Given the description of an element on the screen output the (x, y) to click on. 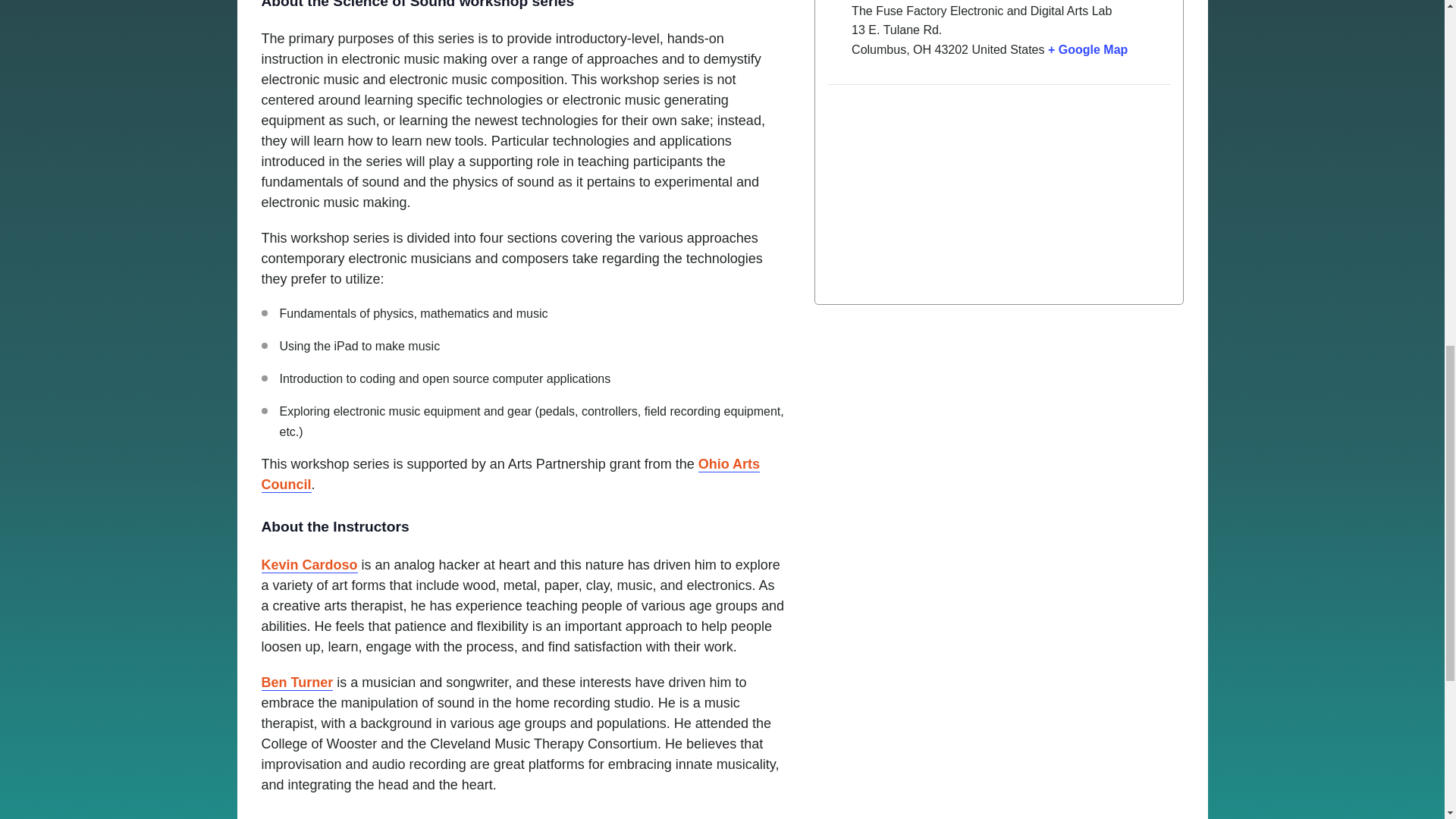
Kevin Cardoso (308, 565)
Ben Turner (296, 682)
Ohio Arts Council (510, 474)
Click to view a Google Map (1087, 49)
Ohio (921, 49)
